Given the description of an element on the screen output the (x, y) to click on. 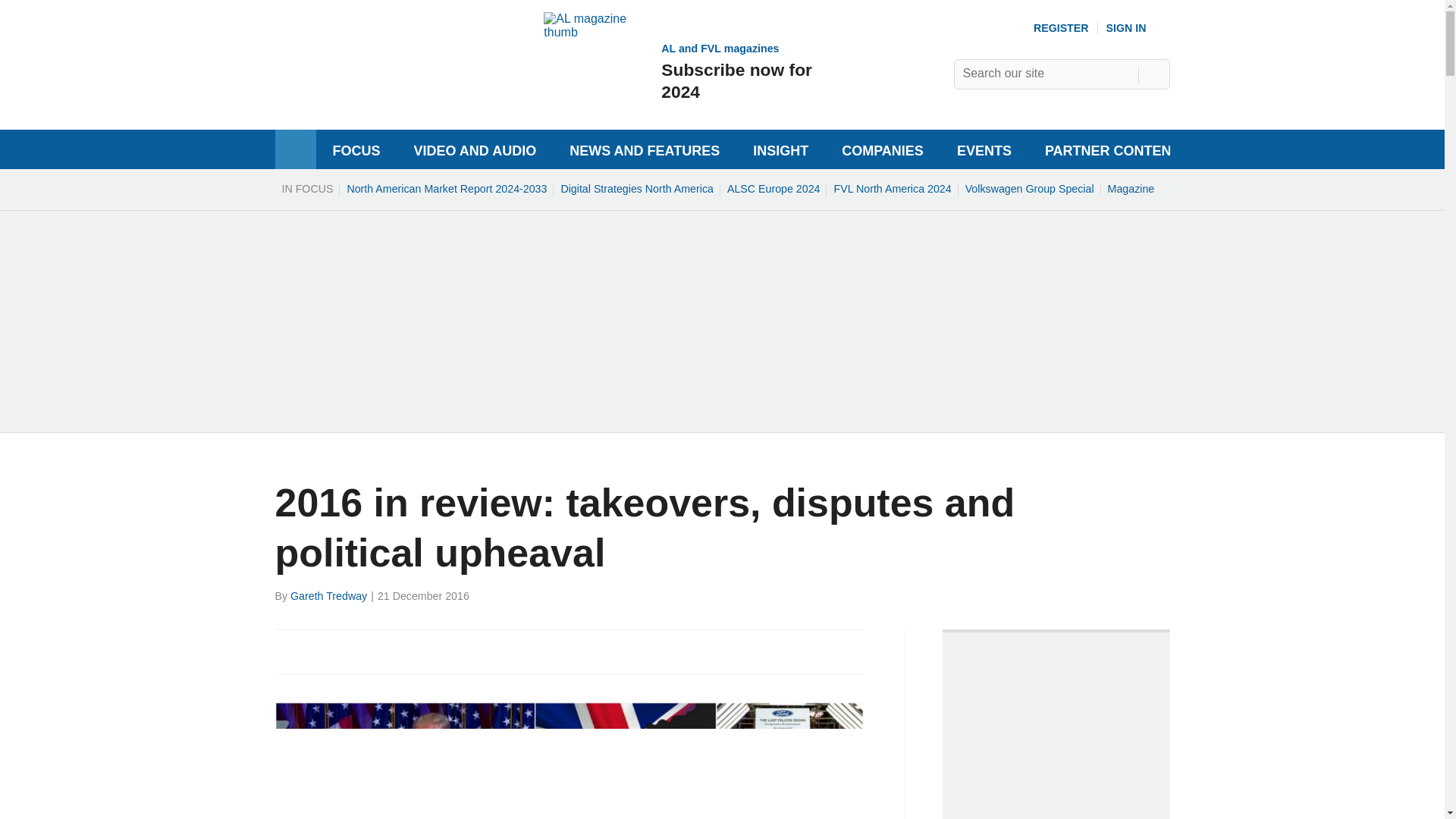
Automotive Logistics (375, 94)
North American Market Report 2024-2033 (446, 188)
Email this article (386, 651)
Share this on Linked in (352, 651)
Share this on Facebook (288, 651)
FVL North America 2024 (892, 188)
REGISTER (1061, 28)
Digital Strategies North America (679, 70)
SEARCH (636, 188)
